Given the description of an element on the screen output the (x, y) to click on. 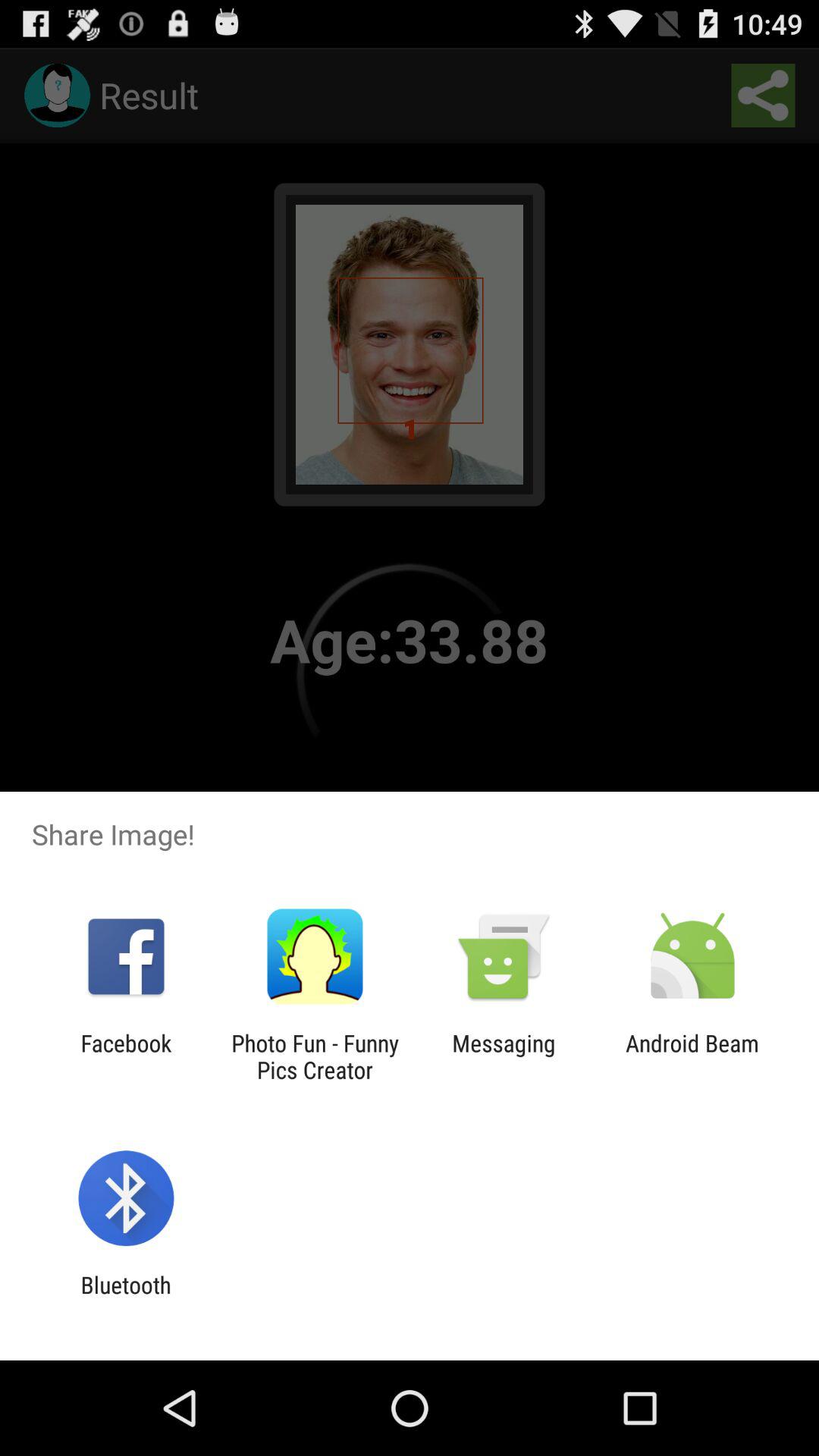
swipe to photo fun funny icon (314, 1056)
